Given the description of an element on the screen output the (x, y) to click on. 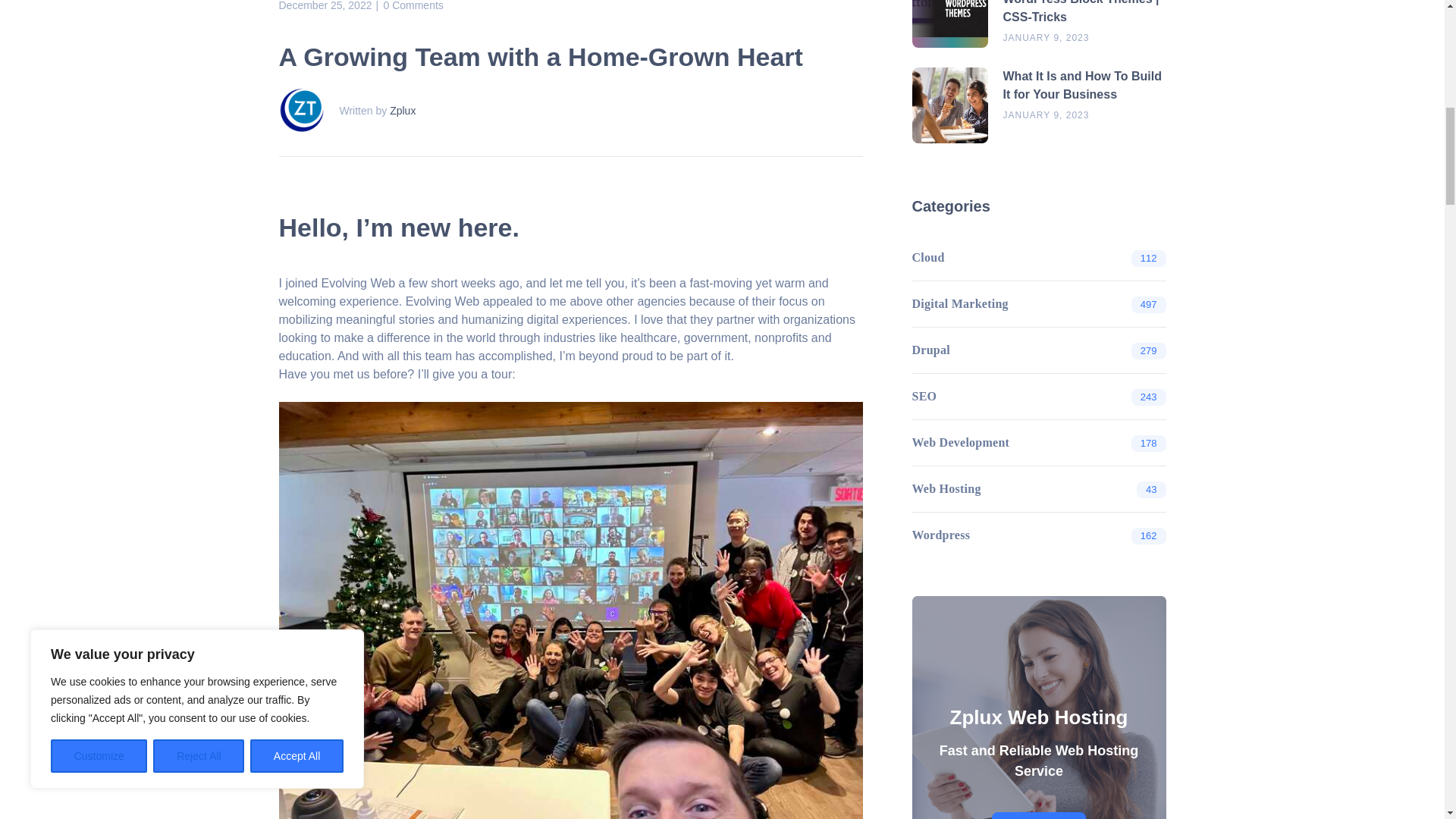
0 Comments (412, 6)
Zplux (402, 110)
View all posts by Zplux (402, 110)
